Given the description of an element on the screen output the (x, y) to click on. 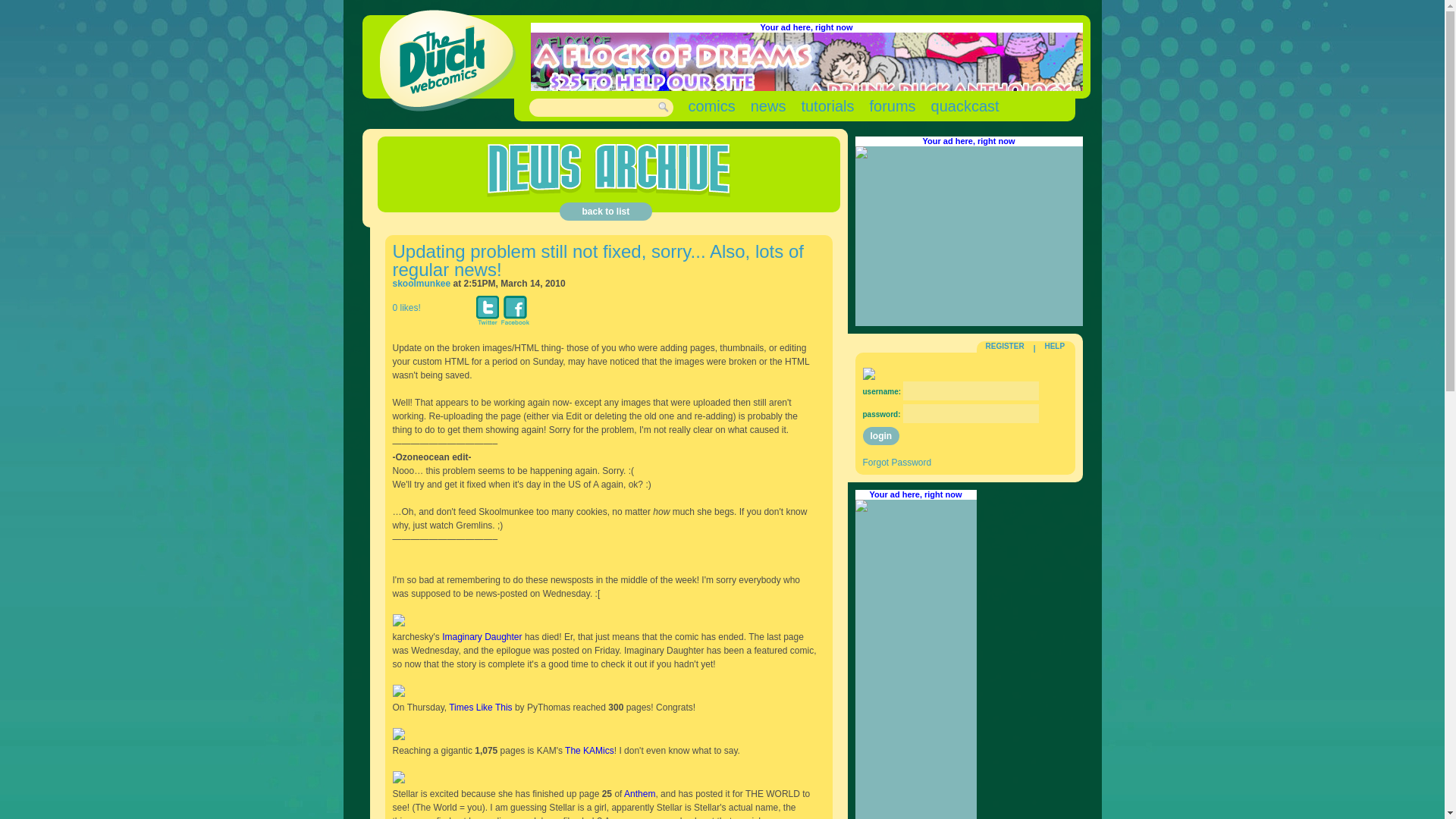
Imaginary Daughter (481, 636)
Your ad here, right now (967, 140)
REGISTER (1005, 346)
quackcast (964, 105)
Your ad here, right now (914, 493)
skoolmunkee (422, 283)
Your ad here, right now (805, 26)
Forgot Password (897, 462)
HELP (1053, 346)
Times Like This (480, 706)
